Given the description of an element on the screen output the (x, y) to click on. 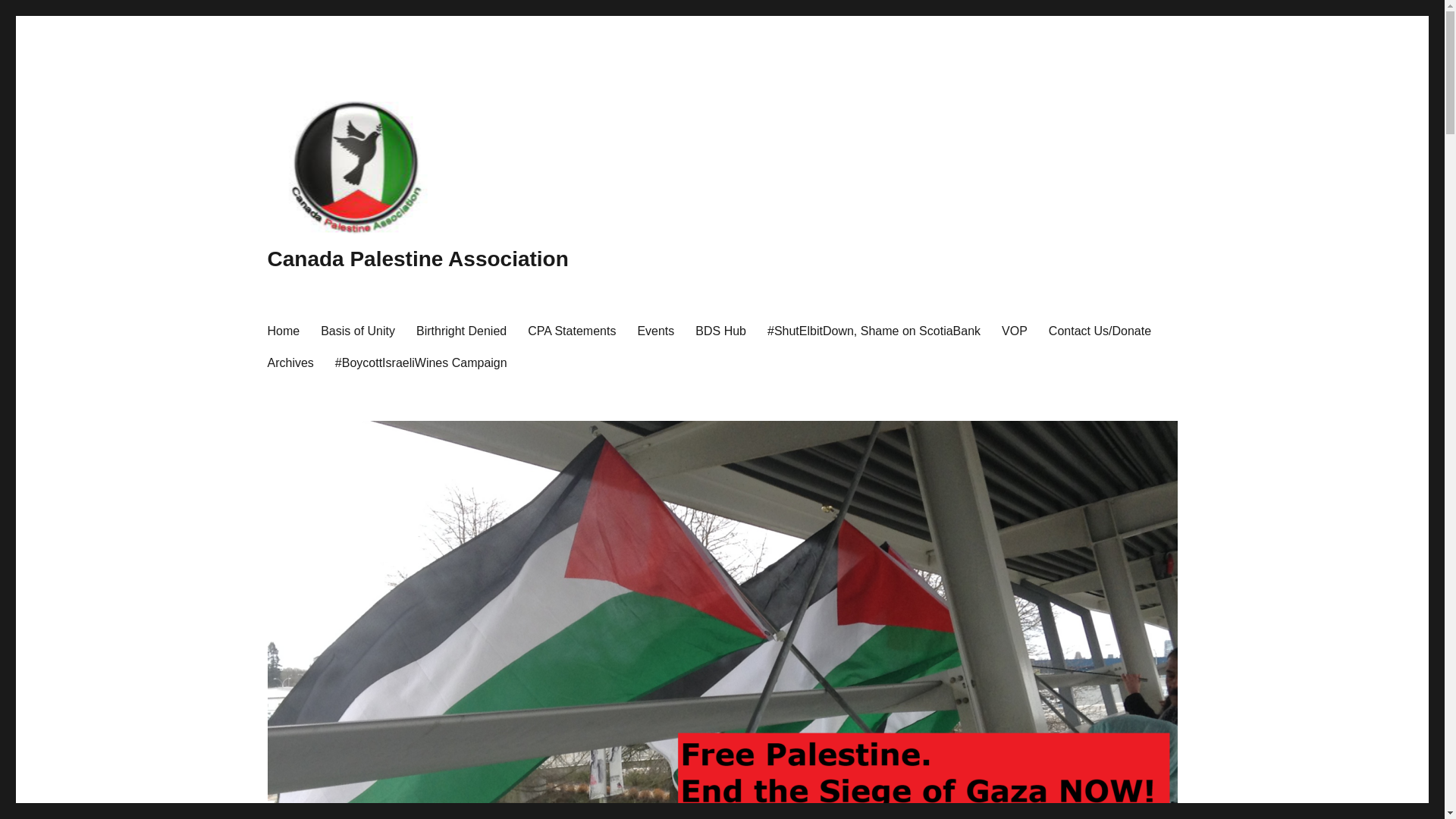
BDS Hub (720, 330)
Canada Palestine Association (416, 259)
Archives (289, 362)
VOP (1014, 330)
Events (655, 330)
Birthright Denied (461, 330)
Basis of Unity (358, 330)
basis-of-unity (358, 330)
CPA Statements (571, 330)
Home (283, 330)
